Given the description of an element on the screen output the (x, y) to click on. 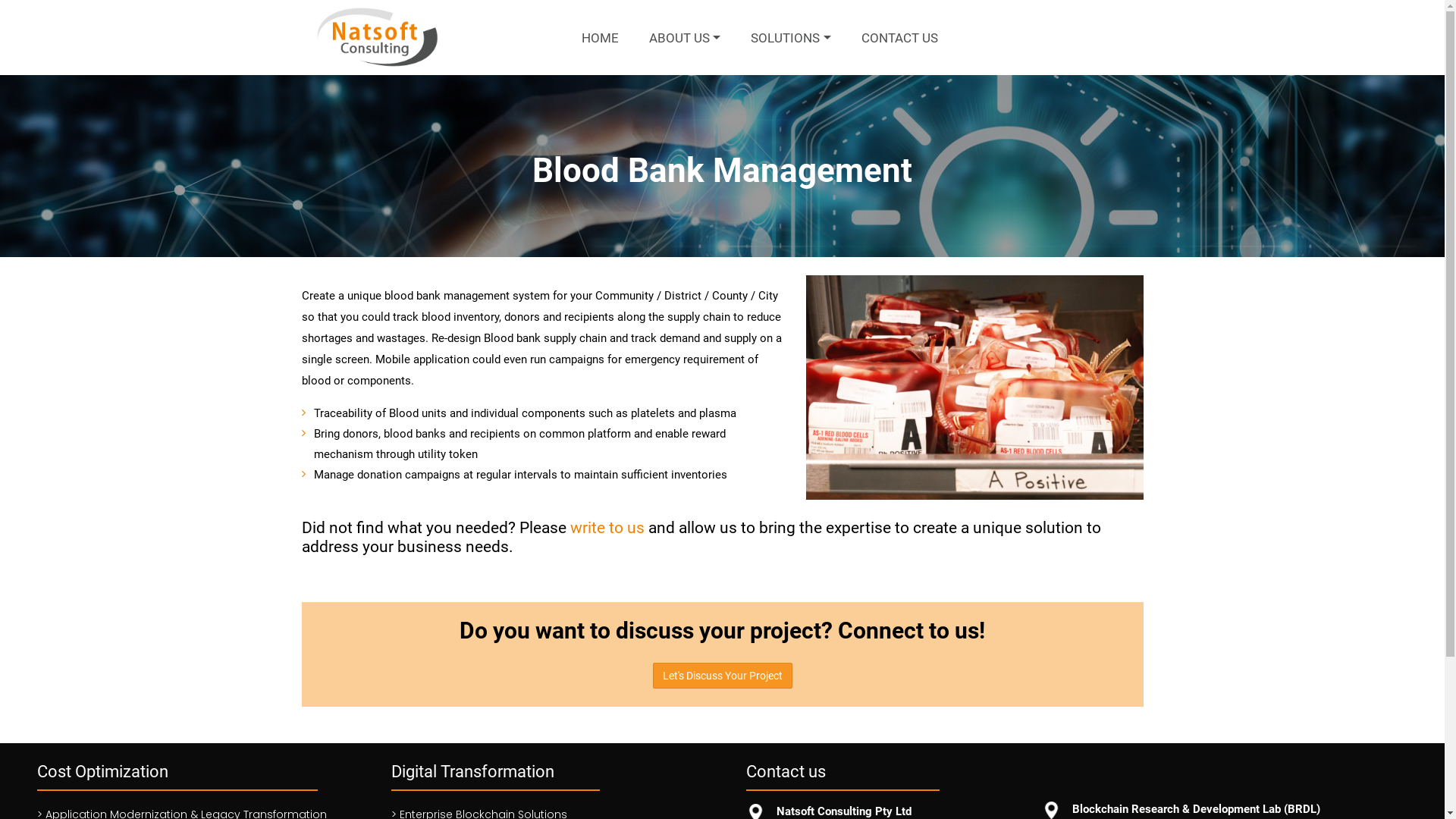
Let's Discuss Your Project Element type: text (721, 675)
write to us Element type: text (607, 527)
ABOUT US Element type: text (684, 38)
CONTACT US Element type: text (899, 38)
HOME Element type: text (599, 38)
SOLUTIONS Element type: text (790, 38)
